Given the description of an element on the screen output the (x, y) to click on. 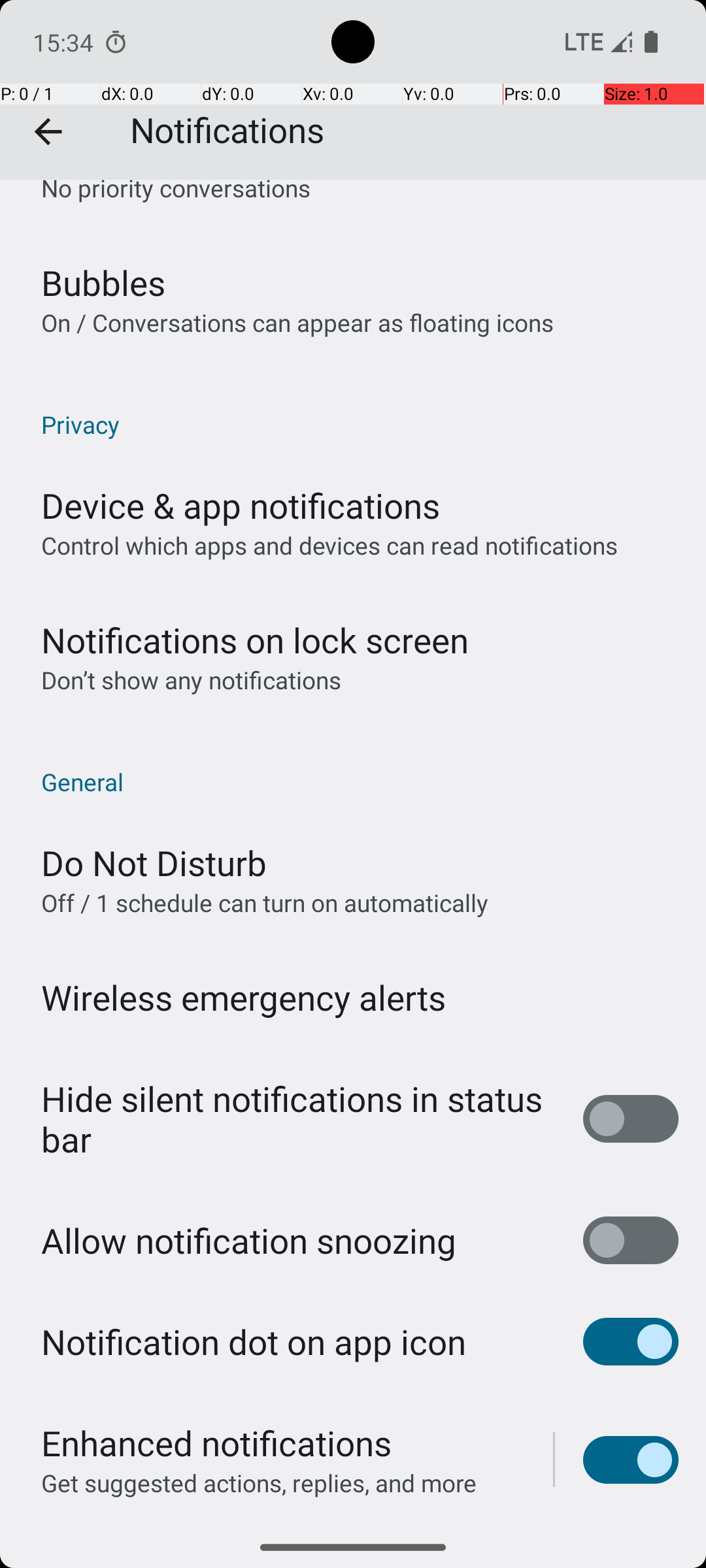
Don’t show any notifications Element type: android.widget.TextView (191, 679)
Off / 1 schedule can turn on automatically Element type: android.widget.TextView (264, 902)
Wireless emergency alerts Element type: android.widget.TextView (243, 997)
Hide silent notifications in status bar Element type: android.widget.TextView (298, 1118)
Allow notification snoozing Element type: android.widget.TextView (248, 1240)
Notification dot on app icon Element type: android.widget.TextView (253, 1341)
Enhanced notifications Element type: android.widget.TextView (216, 1442)
Get suggested actions, replies, and more Element type: android.widget.TextView (259, 1482)
